Given the description of an element on the screen output the (x, y) to click on. 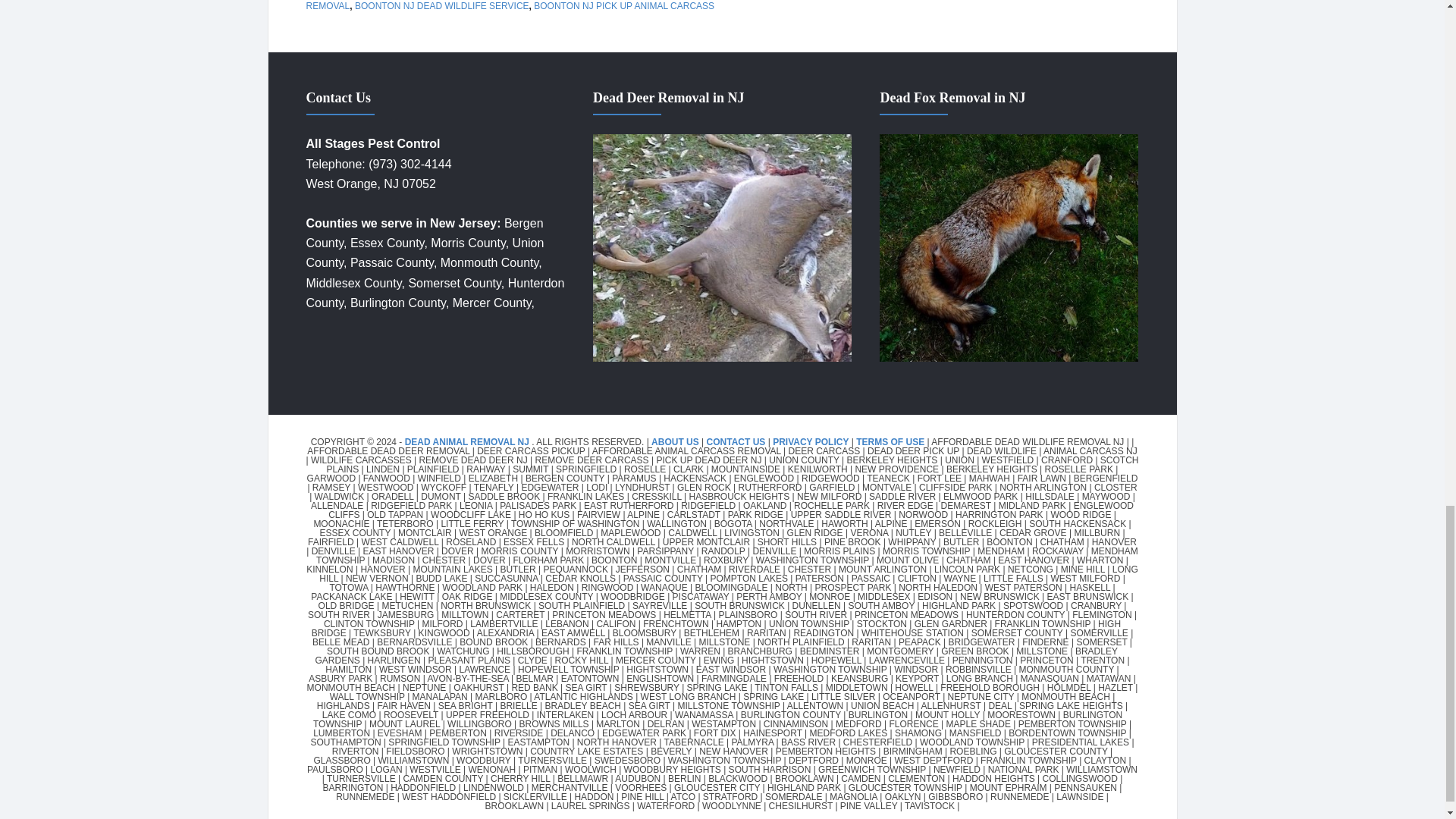
BOONTON NJ DEAD ANIMAL REMOVAL (561, 5)
BOONTON NJ DEAD WILDLIFE SERVICE (442, 5)
PRIVACY POLICY (810, 441)
CONTACT US (735, 441)
BOONTON NJ PICK UP ANIMAL CARCASS (624, 5)
ABOUT US (675, 441)
TERMS OF USE (890, 441)
DEAD ANIMAL REMOVAL NJ (466, 441)
